Given the description of an element on the screen output the (x, y) to click on. 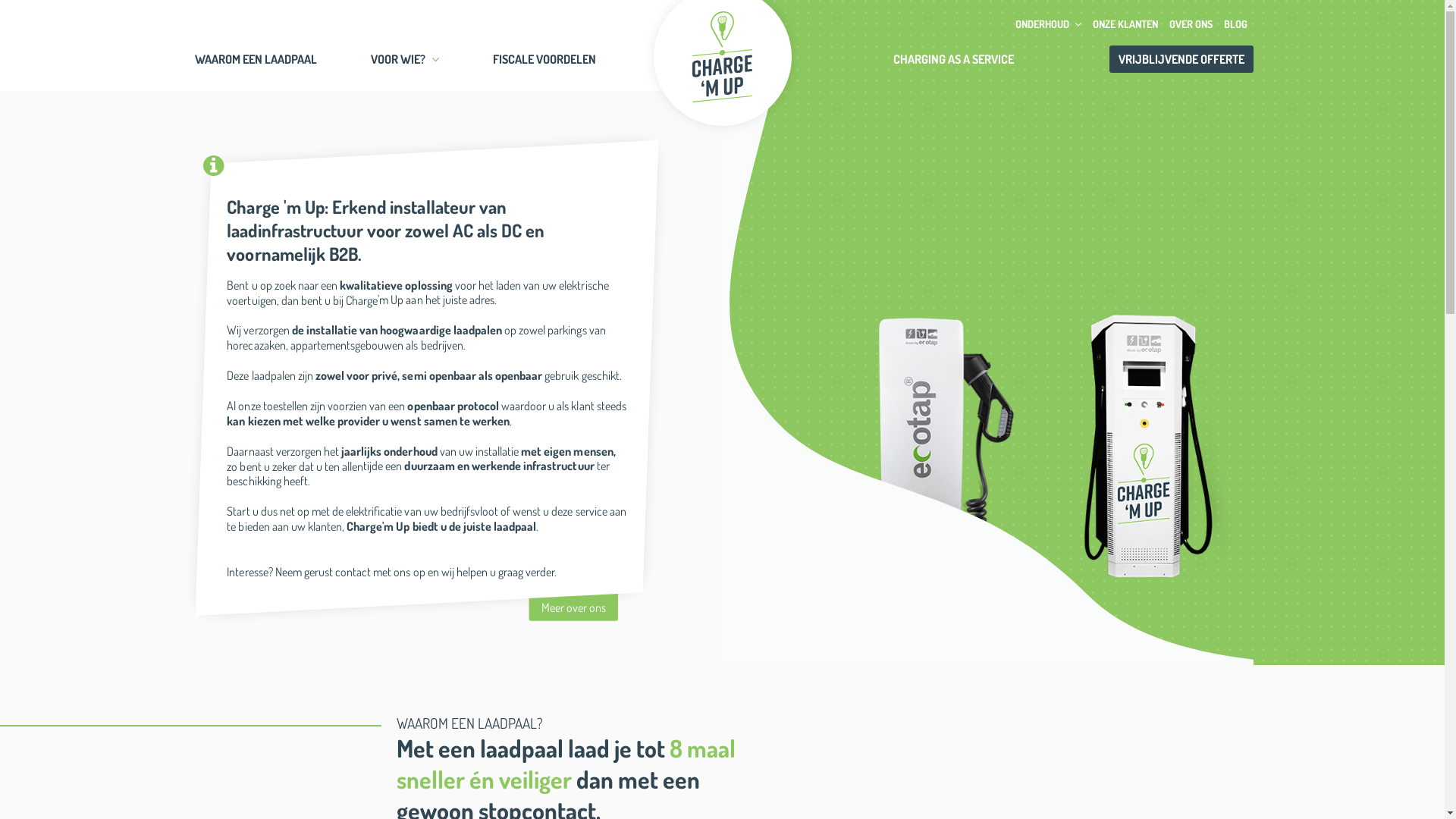
WAAROM EEN LAADPAAL Element type: text (255, 58)
ONDERHOUD Element type: text (1048, 23)
VOOR WIE? Element type: text (404, 58)
OVER ONS Element type: text (1190, 23)
Meer over ons Element type: text (572, 604)
CHARGING AS A SERVICE Element type: text (953, 58)
ONZE KLANTEN Element type: text (1125, 23)
BLOG Element type: text (1234, 23)
VRIJBLIJVENDE OFFERTE Element type: text (1180, 58)
FISCALE VOORDELEN Element type: text (544, 58)
